Given the description of an element on the screen output the (x, y) to click on. 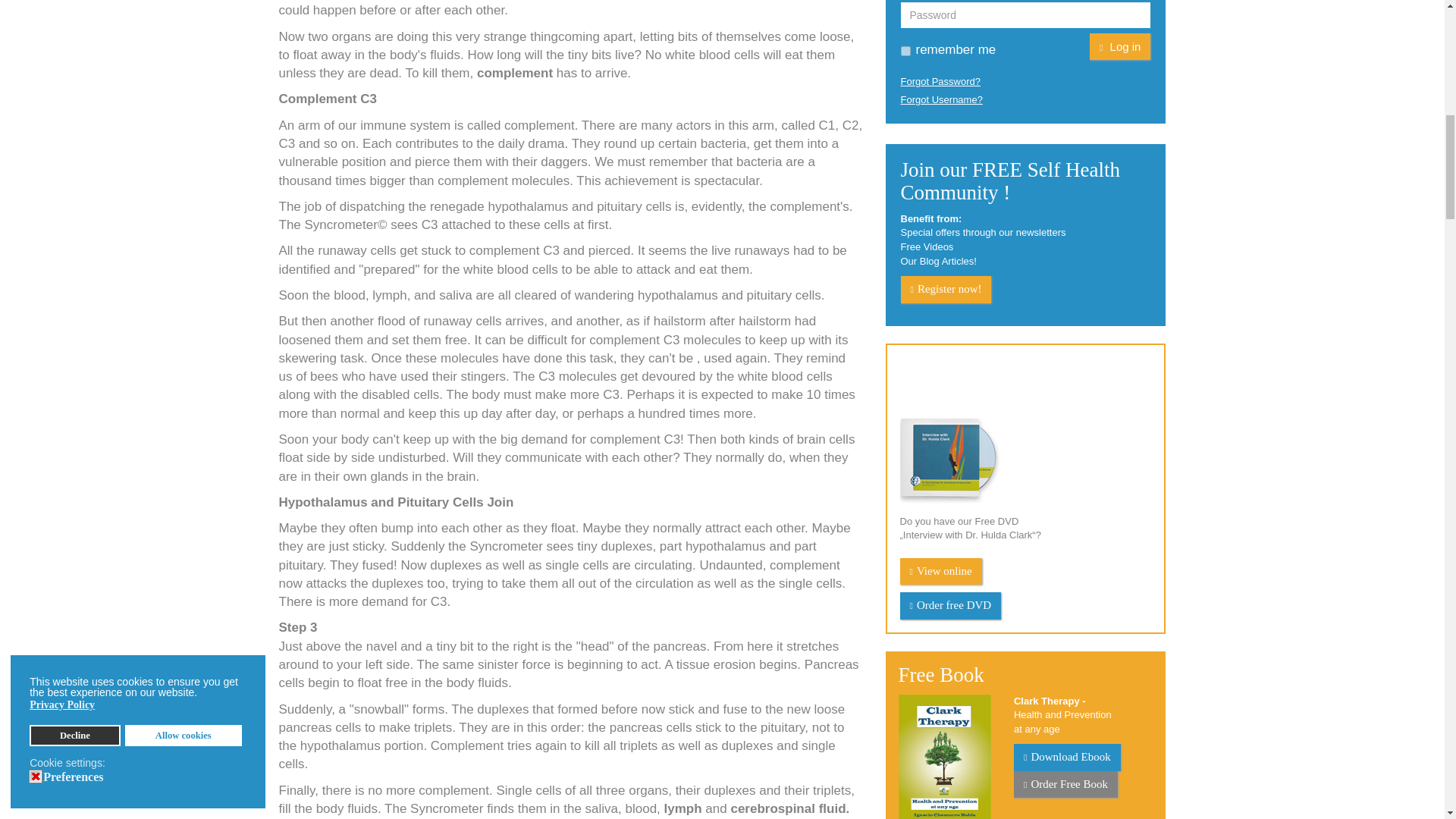
yes (906, 50)
